Given the description of an element on the screen output the (x, y) to click on. 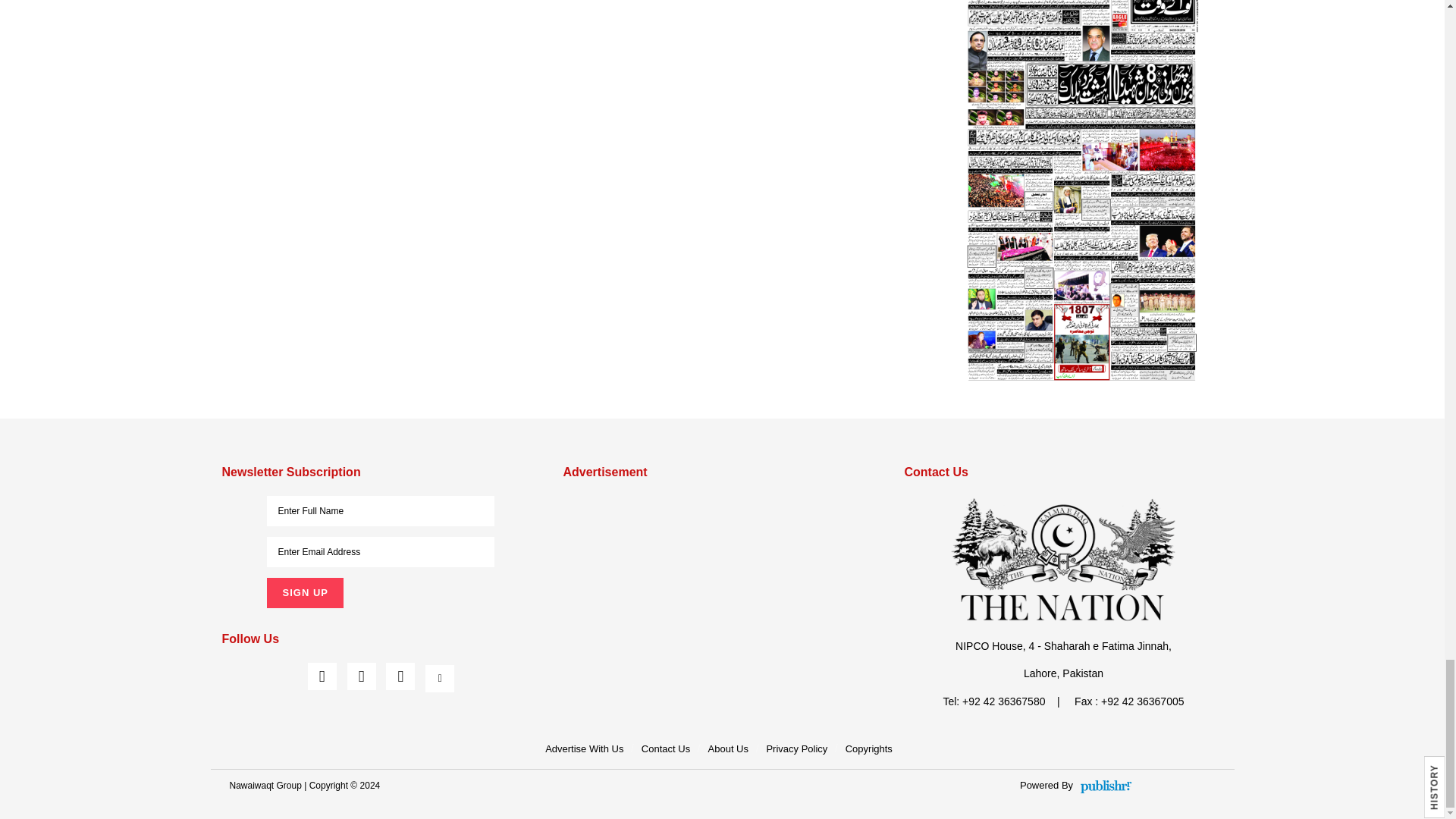
Sign up (304, 593)
